Given the description of an element on the screen output the (x, y) to click on. 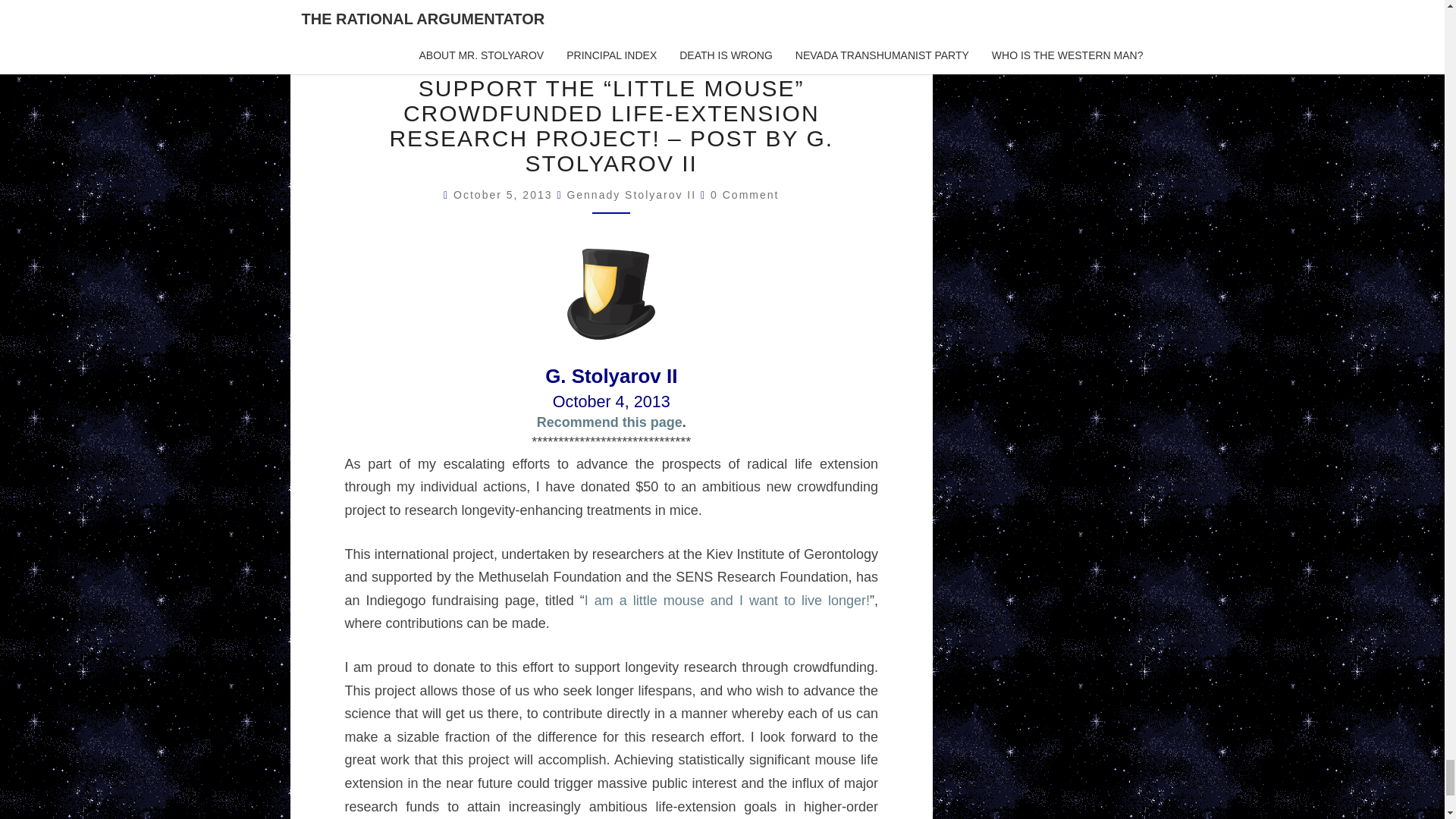
2:48 AM (504, 194)
View all posts by Gennady Stolyarov II (630, 194)
